Given the description of an element on the screen output the (x, y) to click on. 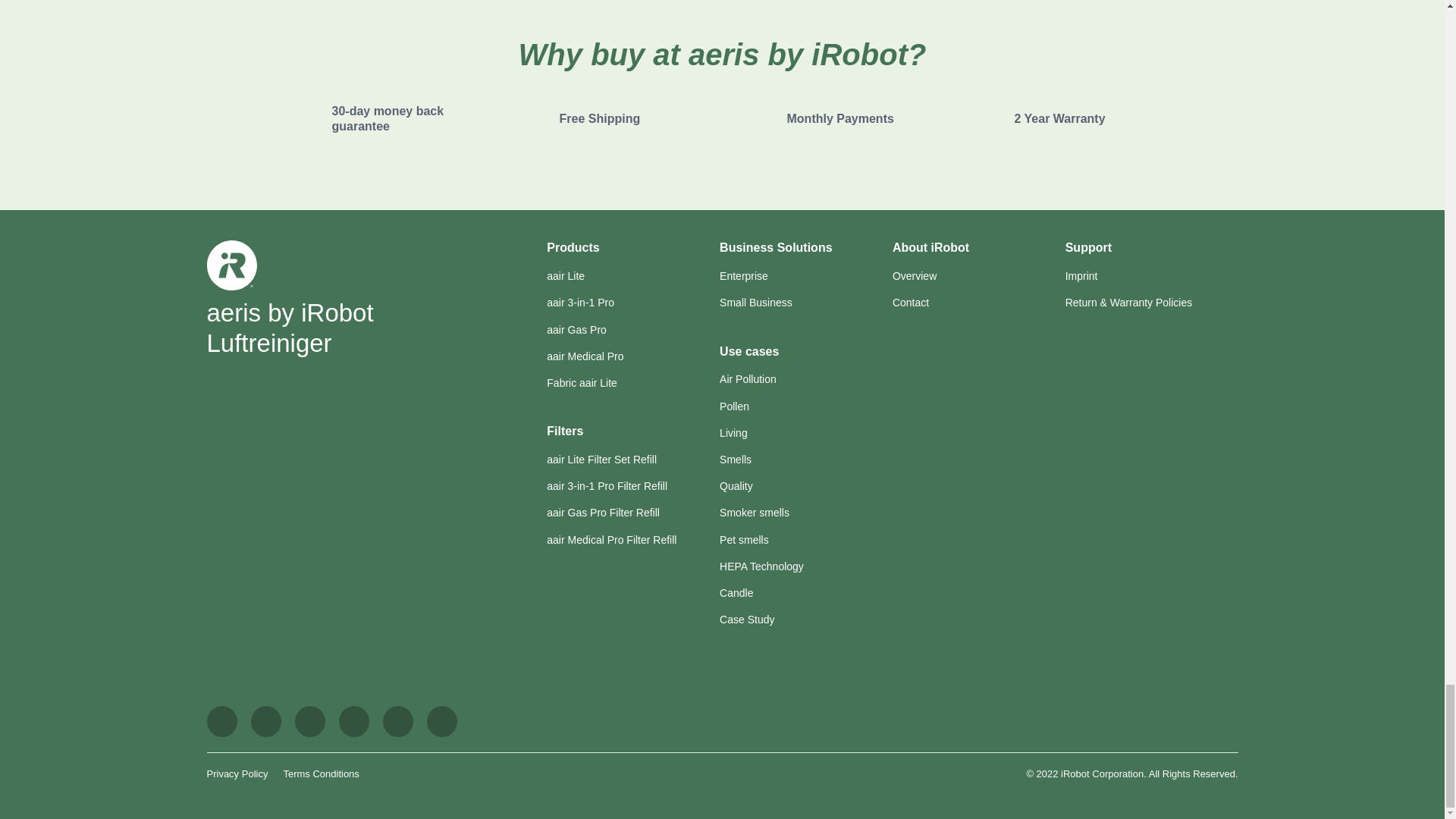
Overview (914, 275)
Small Business (755, 302)
Smoker smells (754, 512)
aair Lite Filter Set Refill (601, 459)
Pet smells (743, 539)
aair Gas Pro Filter Refill (603, 512)
Candle (735, 592)
aair Medical Pro Filter Refill (612, 539)
Air Pollution (747, 378)
Pollen (734, 406)
